Given the description of an element on the screen output the (x, y) to click on. 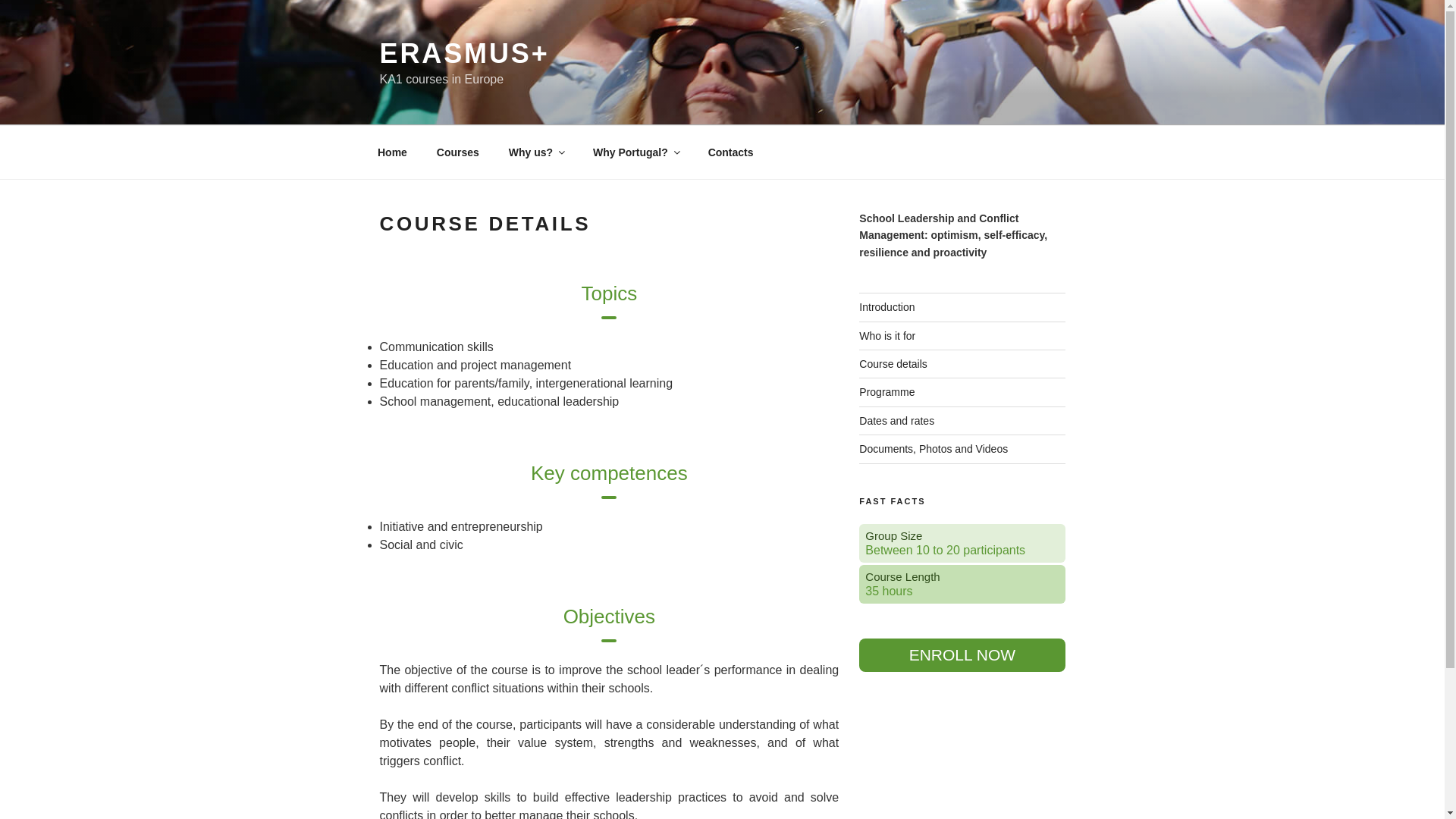
Why us? (535, 151)
Who is it for (887, 336)
Home (392, 151)
ENROLL NOW (961, 654)
Programme (886, 391)
Dates and rates (896, 420)
Introduction (886, 306)
Why Portugal? (635, 151)
Documents, Photos and Videos (933, 449)
Courses (457, 151)
Course details (893, 363)
Contacts (730, 151)
